Given the description of an element on the screen output the (x, y) to click on. 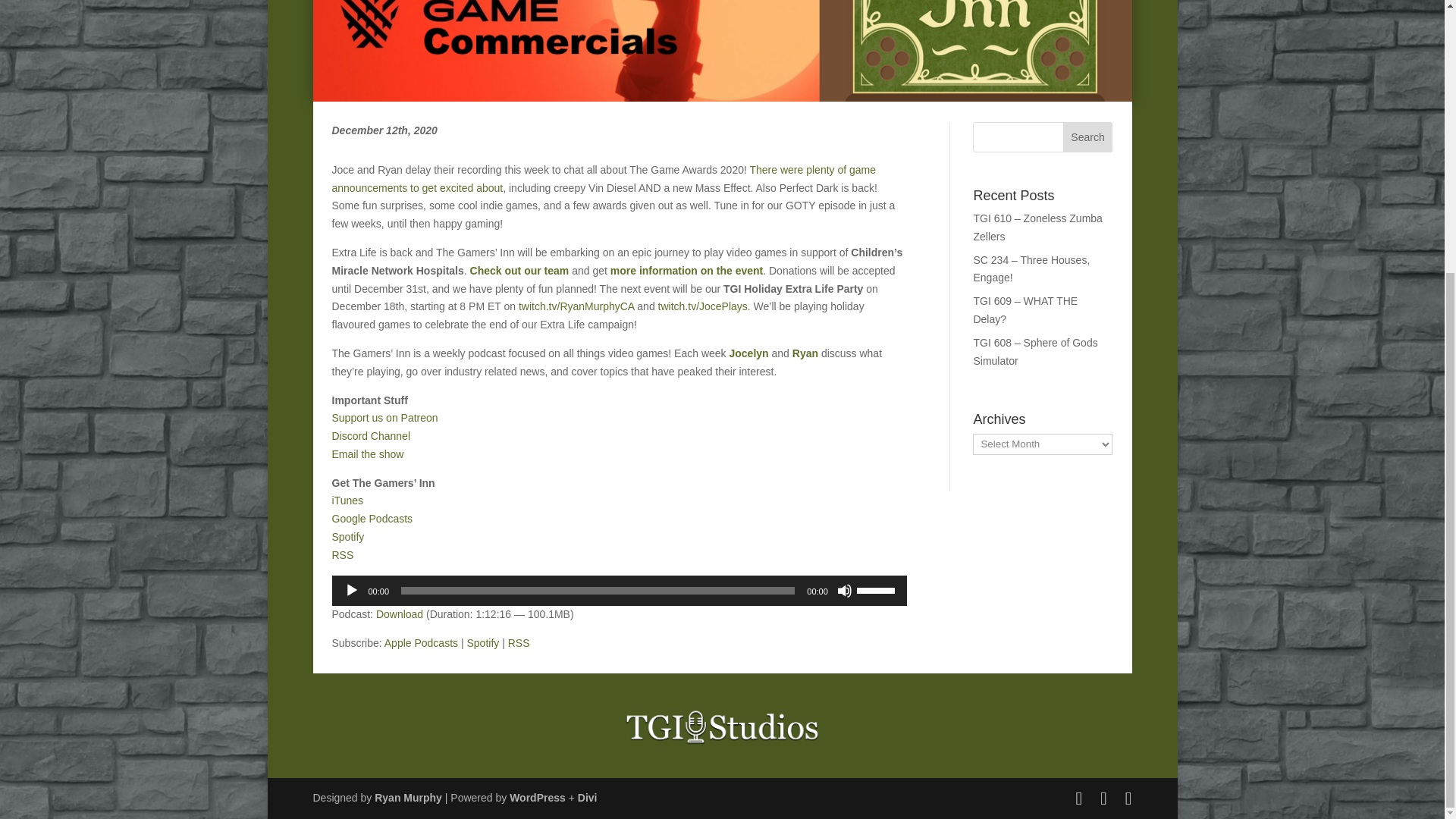
iTunes (347, 500)
Check out our team (519, 270)
more information on the event (686, 270)
Email the show (367, 453)
Google Podcasts (372, 518)
Subscribe on Spotify (482, 643)
Spotify (348, 536)
Subscribe on Apple Podcasts (421, 643)
Download (399, 613)
Ryan (805, 353)
Apple Podcasts (421, 643)
Search (1087, 137)
Subscribe via RSS (518, 643)
There were plenty of game announcements to get excited about (603, 178)
TGI Studios (722, 726)
